Given the description of an element on the screen output the (x, y) to click on. 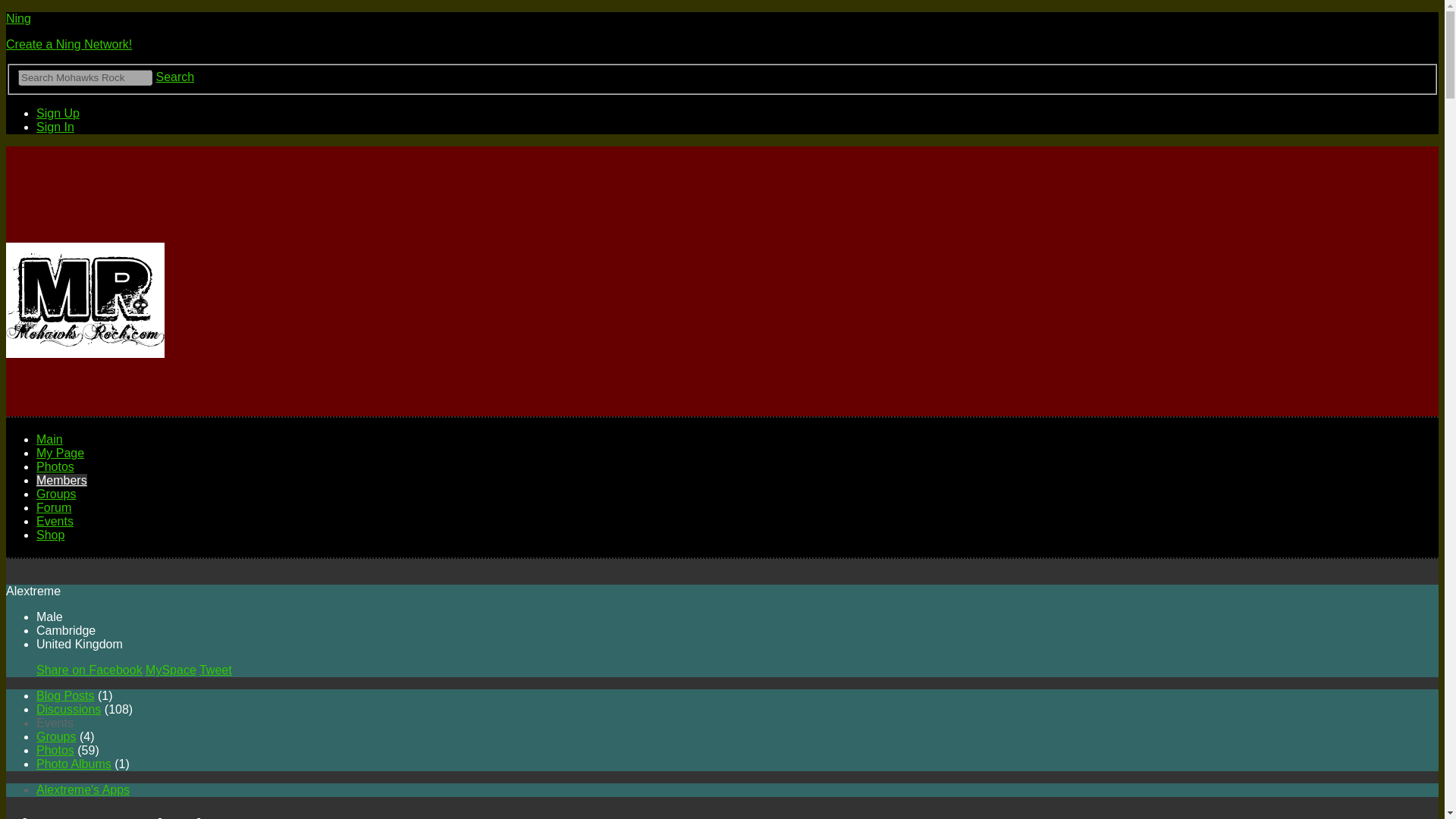
Photos (55, 466)
Search (174, 76)
Search Mohawks Rock (84, 77)
Groups (55, 493)
Create a Ning Network! (68, 43)
Sign Up (58, 113)
Sign In (55, 126)
Ning (17, 18)
Main (49, 439)
Members (61, 480)
My Page (60, 452)
Forum (53, 507)
Search Mohawks Rock (84, 77)
